Given the description of an element on the screen output the (x, y) to click on. 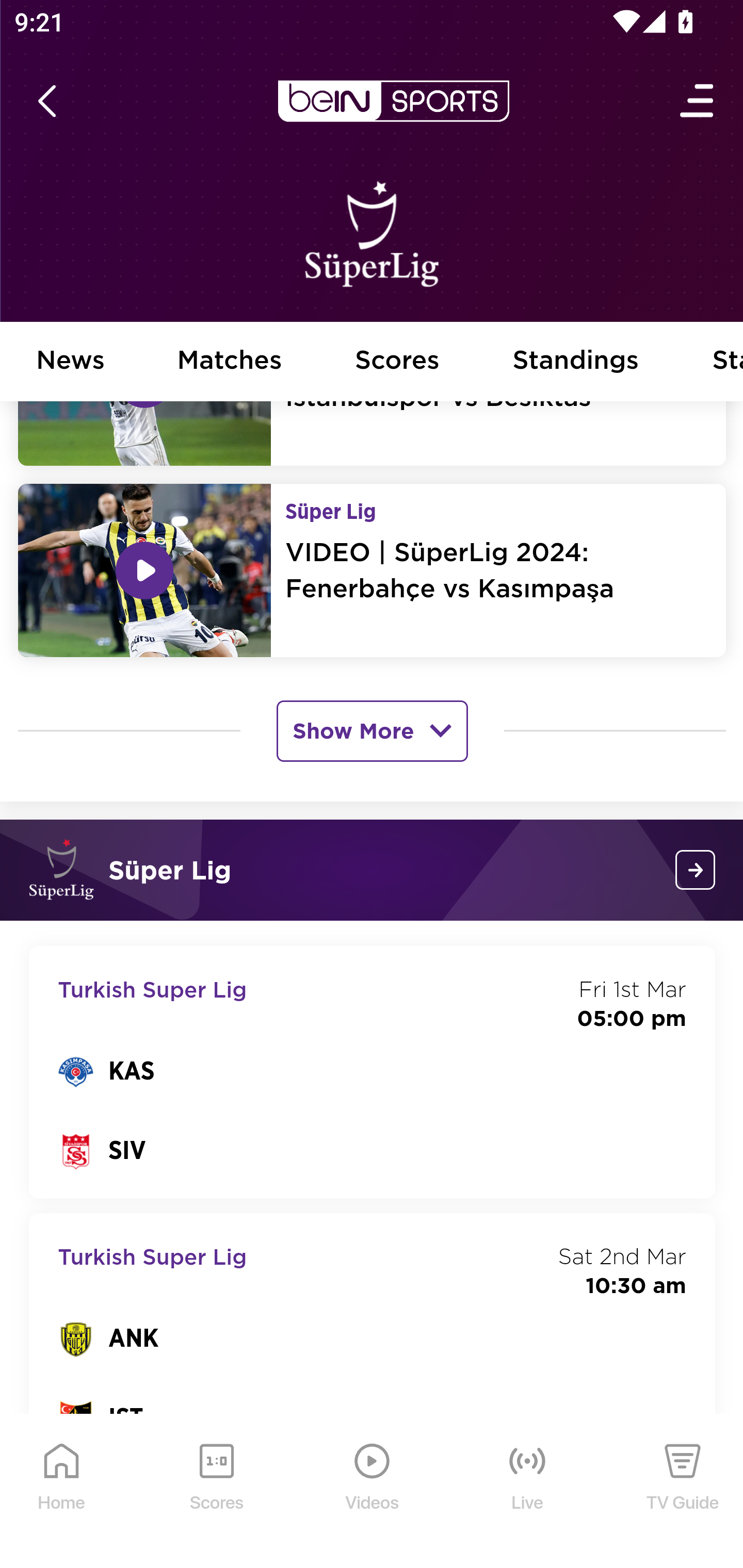
en-us?platform=mobile_android bein logo white (392, 101)
icon back (46, 101)
Open Menu Icon (697, 101)
News (70, 361)
Matches (229, 361)
Scores (397, 361)
Standings (575, 361)
Show More (371, 731)
sper-lig?platform=mobile_android (695, 870)
Home Home Icon Home (61, 1493)
Scores Scores Icon Scores (216, 1493)
Videos Videos Icon Videos (372, 1493)
TV Guide TV Guide Icon TV Guide (682, 1493)
